Given the description of an element on the screen output the (x, y) to click on. 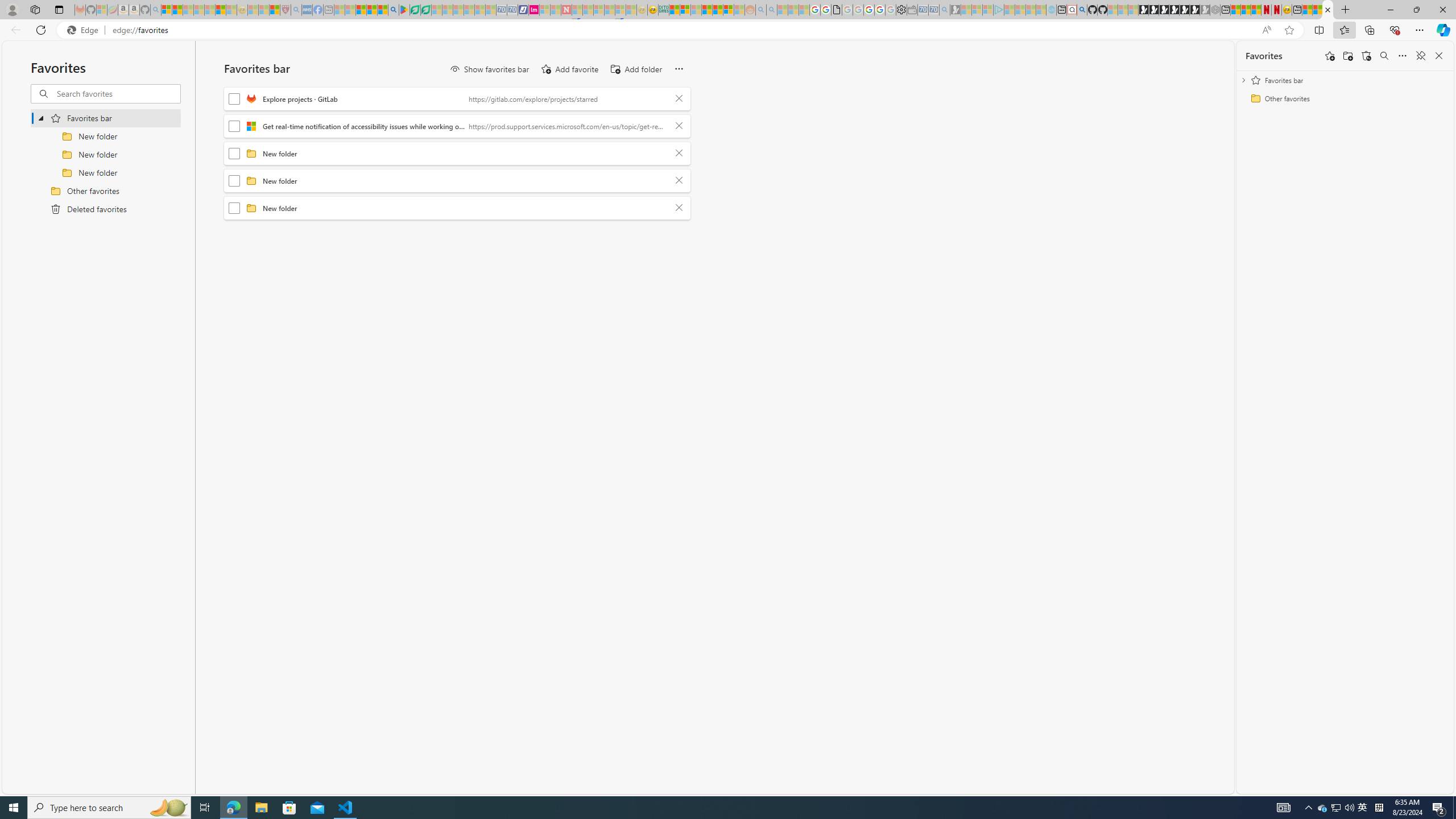
Terms of Use Agreement (414, 9)
Unpin favorites (1420, 55)
Microsoft-Report a Concern to Bing - Sleeping (101, 9)
New tab - Sleeping (328, 9)
Wallet - Sleeping (912, 9)
Close favorites (1439, 55)
